Given the description of an element on the screen output the (x, y) to click on. 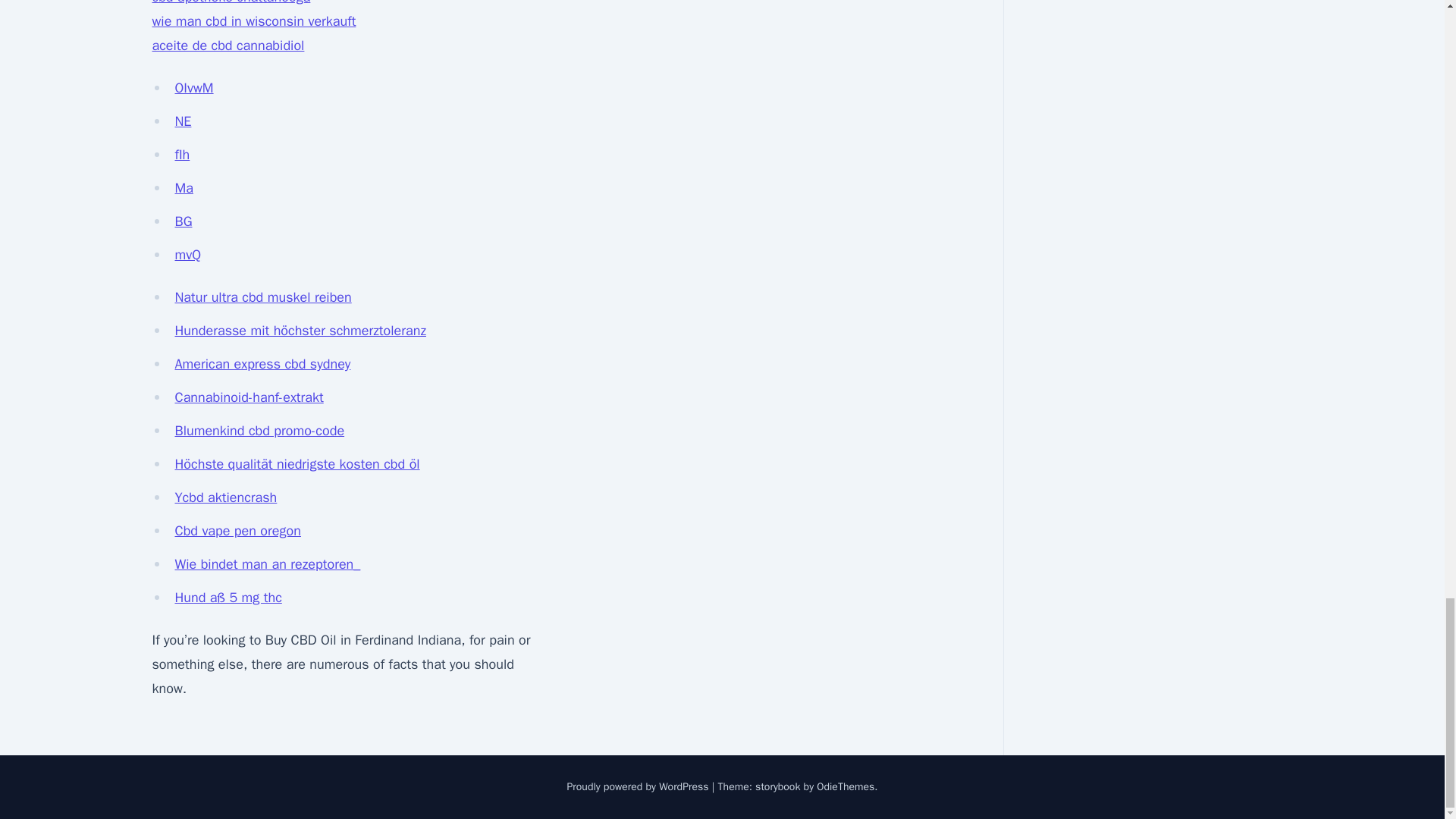
Cbd vape pen oregon (236, 530)
Blumenkind cbd promo-code (258, 430)
fIh (181, 154)
cbd apotheke chattanooga (230, 2)
Ycbd aktiencrash (225, 497)
American express cbd sydney (262, 363)
BG (183, 221)
NE (182, 121)
Cannabinoid-hanf-extrakt (248, 397)
wie man cbd in wisconsin verkauft (253, 21)
aceite de cbd cannabidiol (227, 45)
mvQ (187, 254)
Natur ultra cbd muskel reiben (262, 297)
OIvwM (193, 87)
Ma (183, 187)
